Given the description of an element on the screen output the (x, y) to click on. 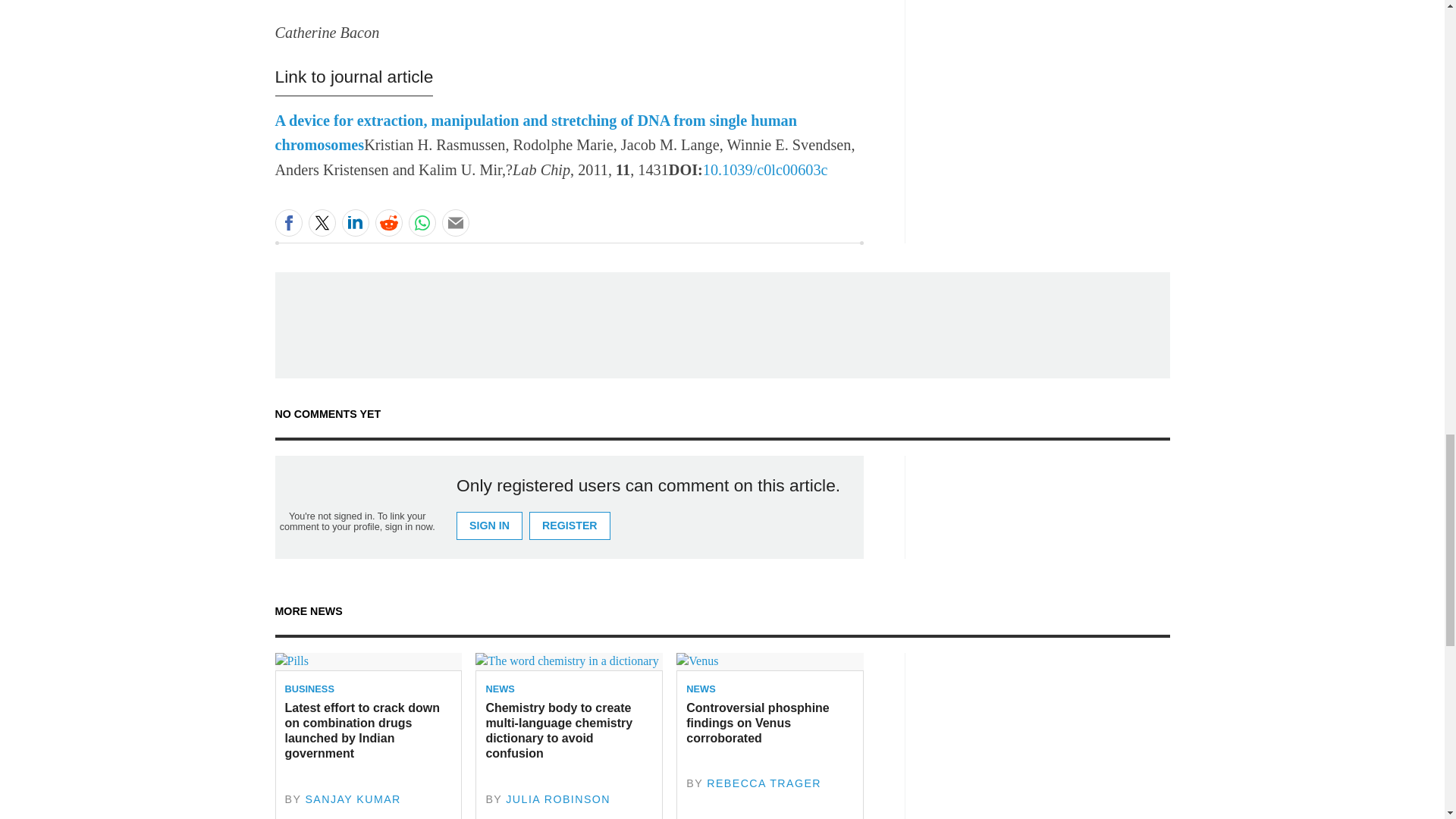
Share this on LinkedIn (354, 222)
Share this on WhatsApp (421, 222)
Share this by email (454, 222)
Share this on Facebook (288, 222)
Share this on Reddit (387, 222)
